Given the description of an element on the screen output the (x, y) to click on. 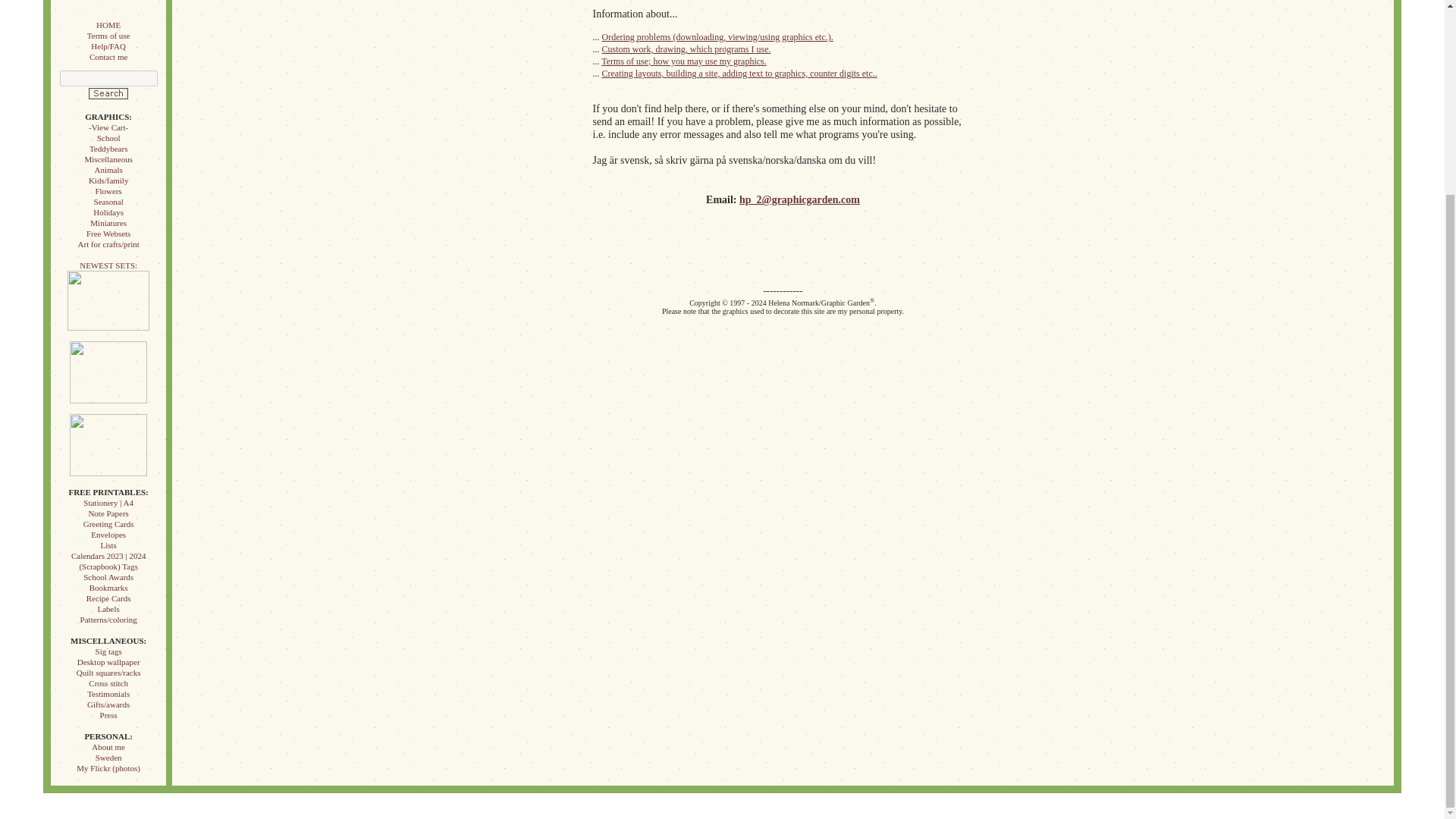
Desktop wallpaper (108, 661)
Bookmarks (108, 587)
HOME (108, 24)
Labels (108, 608)
Contact me (108, 56)
Greeting Cards (107, 523)
Holidays (108, 212)
Calendars 2023 (97, 555)
Flowers (107, 190)
2024 (137, 555)
